Given the description of an element on the screen output the (x, y) to click on. 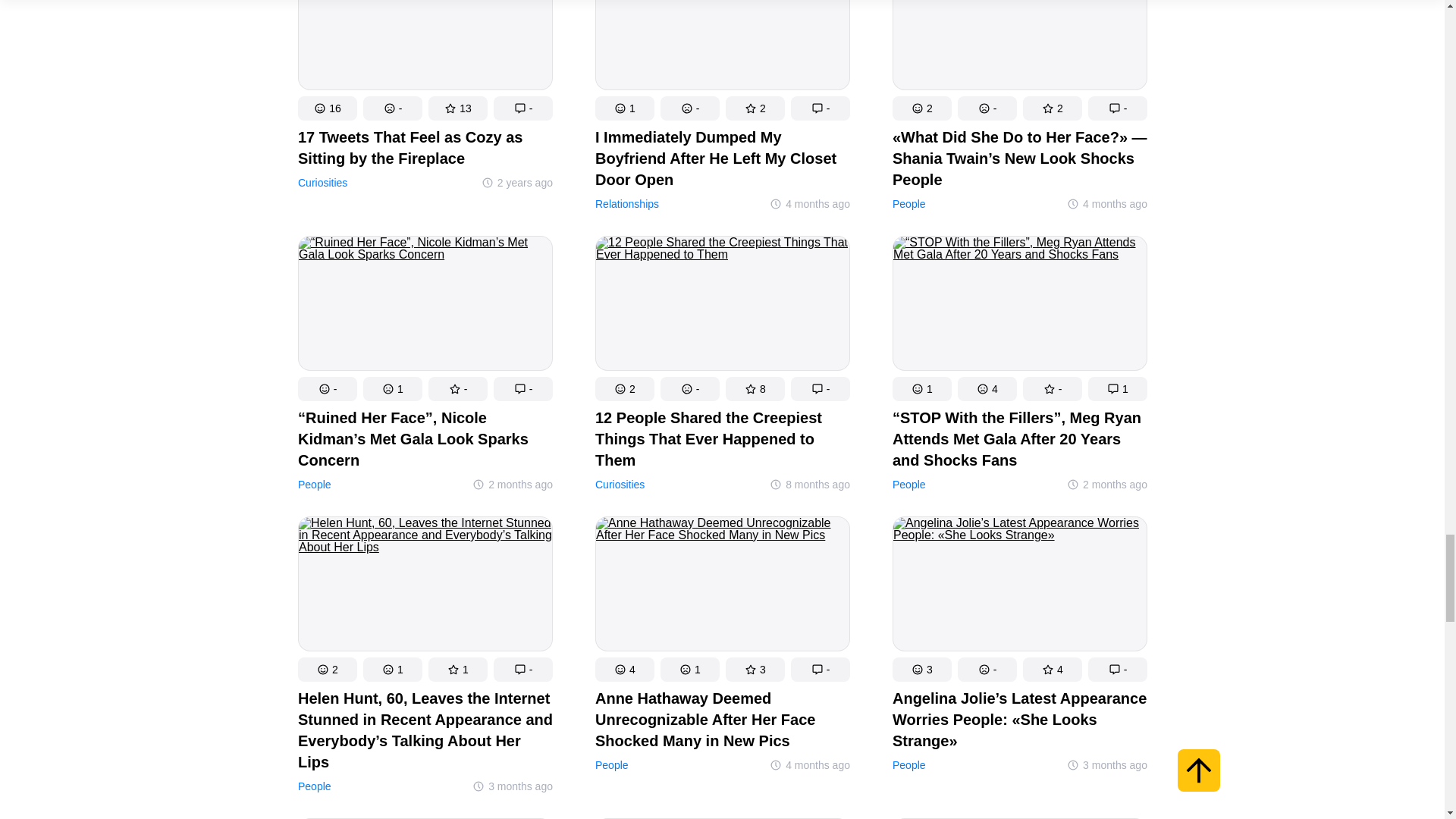
17 Tweets That Feel as Cozy as Sitting by the Fireplace (424, 48)
17 Tweets That Feel as Cozy as Sitting by the Fireplace (424, 147)
